Given the description of an element on the screen output the (x, y) to click on. 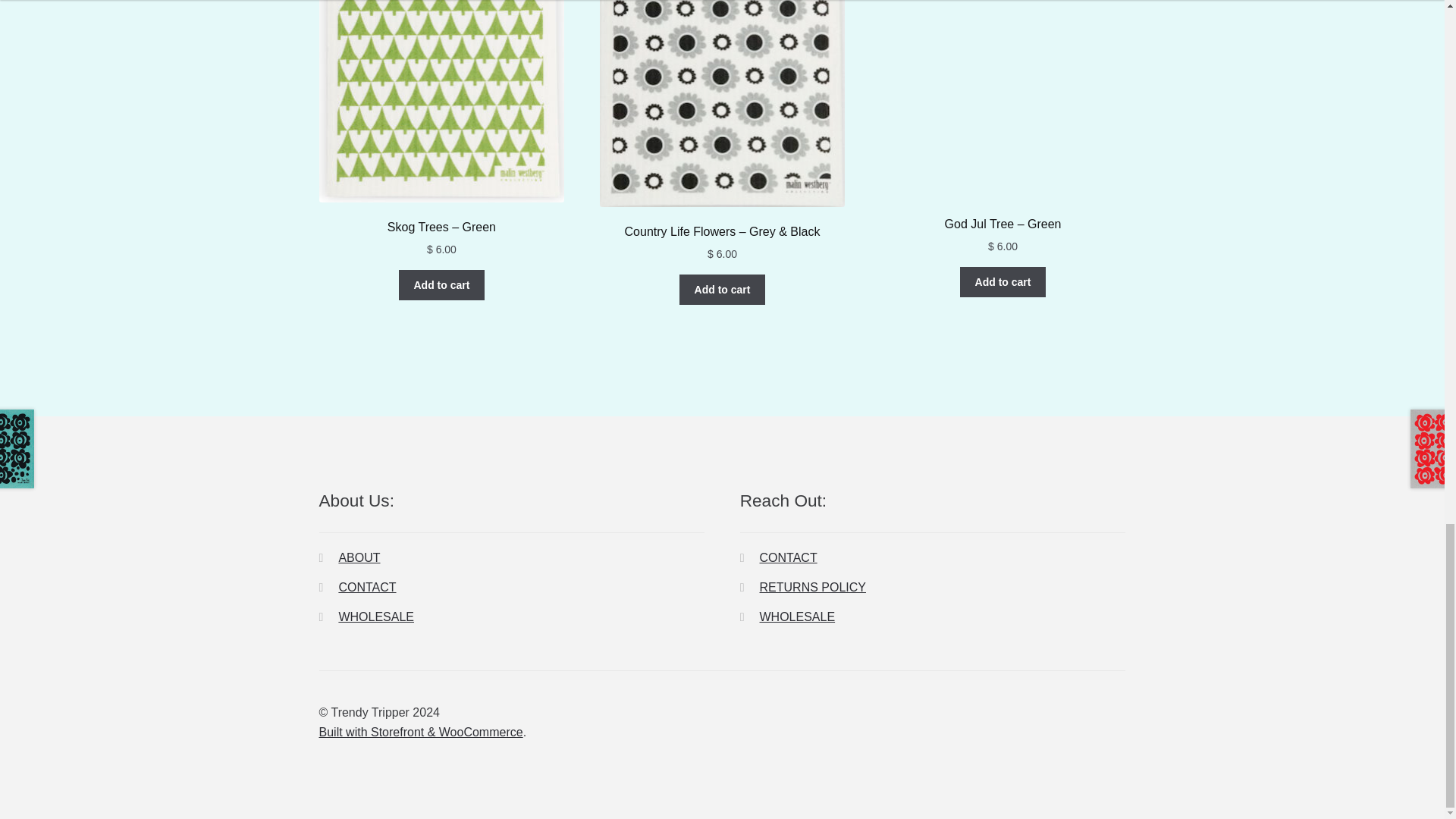
WooCommerce - The Best eCommerce Platform for WordPress (420, 731)
